Given the description of an element on the screen output the (x, y) to click on. 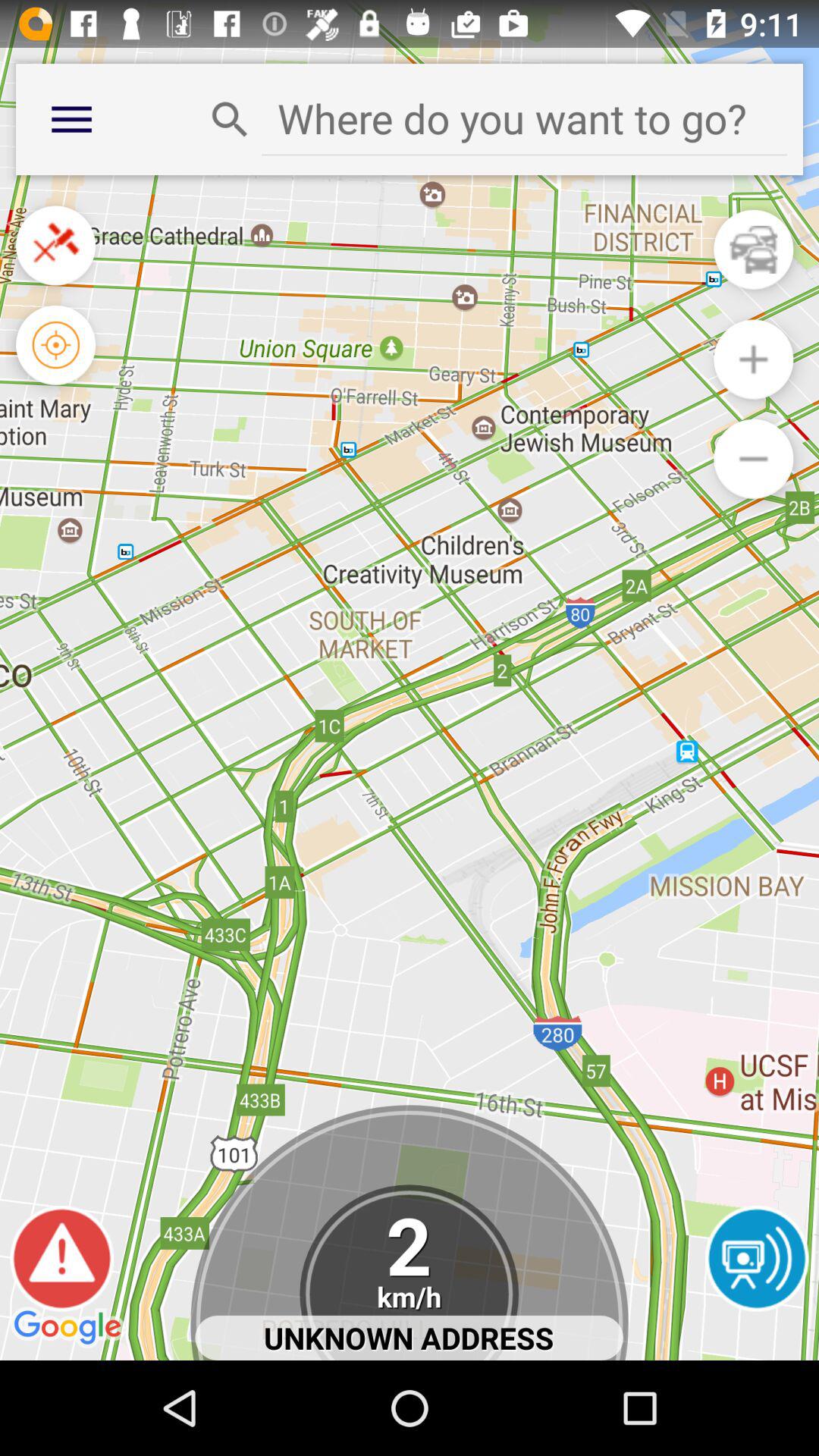
speed gauge display (408, 1272)
